Given the description of an element on the screen output the (x, y) to click on. 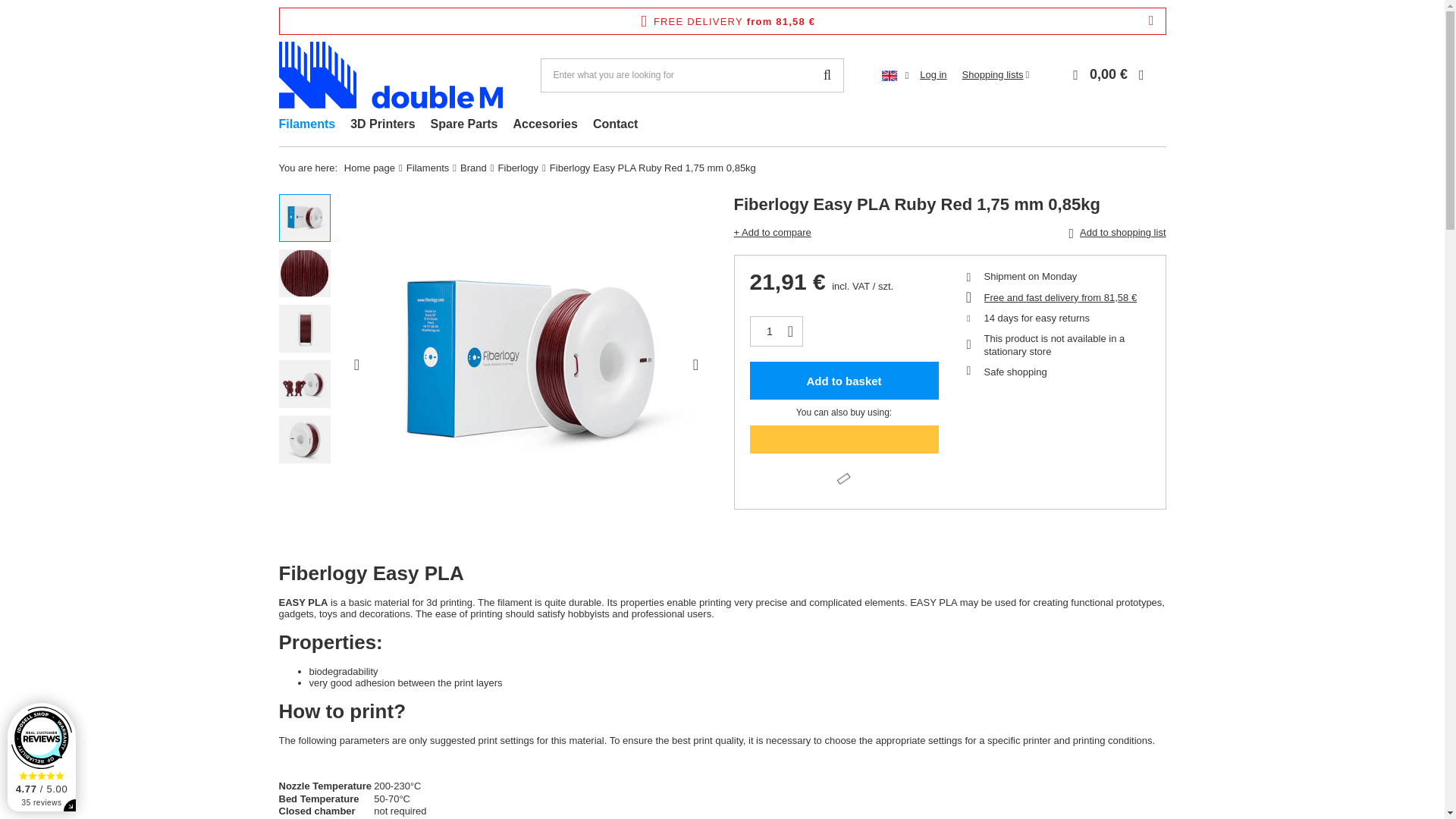
Log in (933, 74)
1 (769, 330)
Shopping lists (995, 74)
Filaments (306, 125)
Filaments (306, 125)
